Given the description of an element on the screen output the (x, y) to click on. 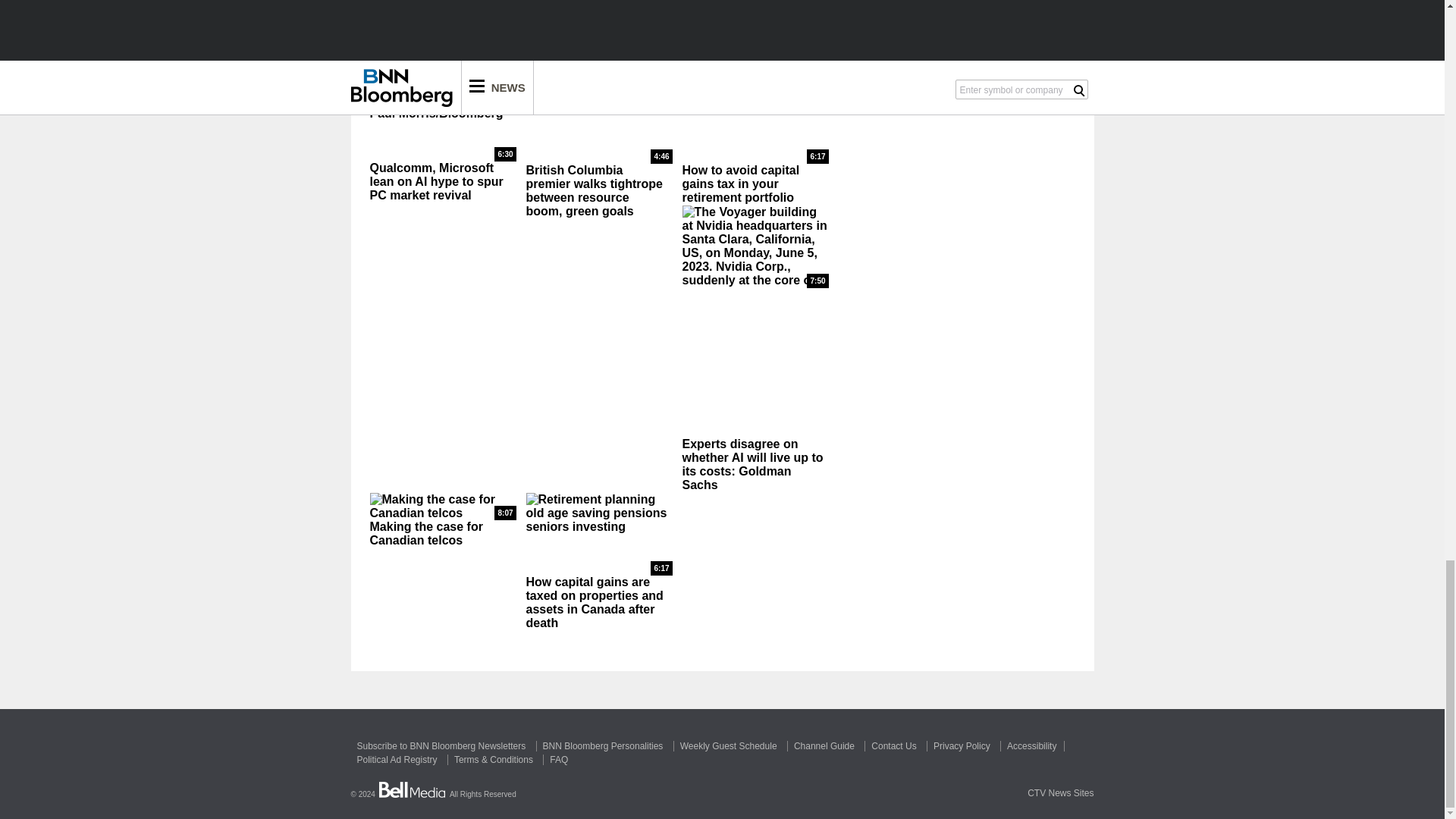
Making the case for Canadian telcos (442, 506)
